Given the description of an element on the screen output the (x, y) to click on. 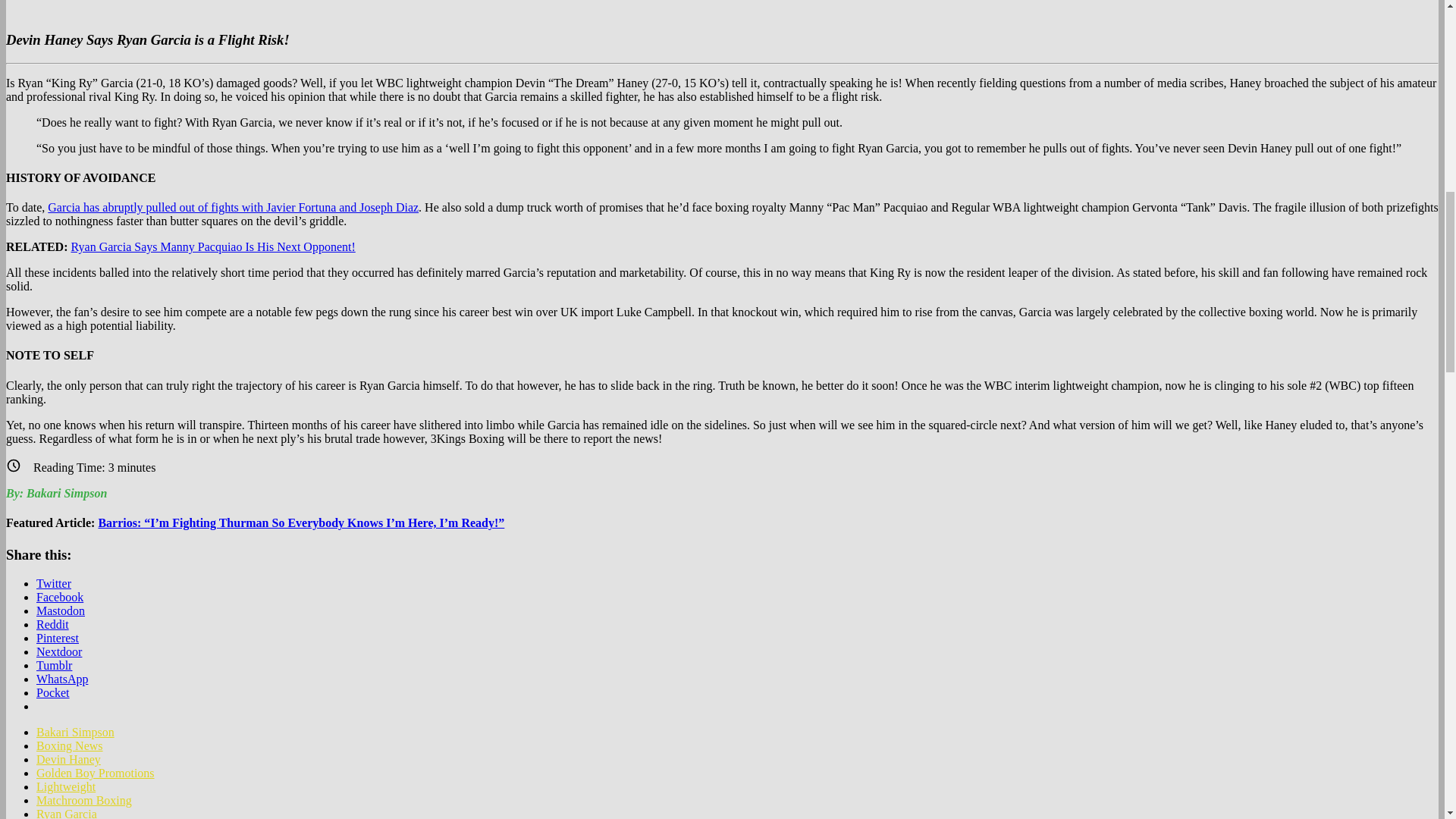
Twitter (53, 583)
Ryan Garcia Says Manny Pacquiao Is His Next Opponent! (213, 246)
